Given the description of an element on the screen output the (x, y) to click on. 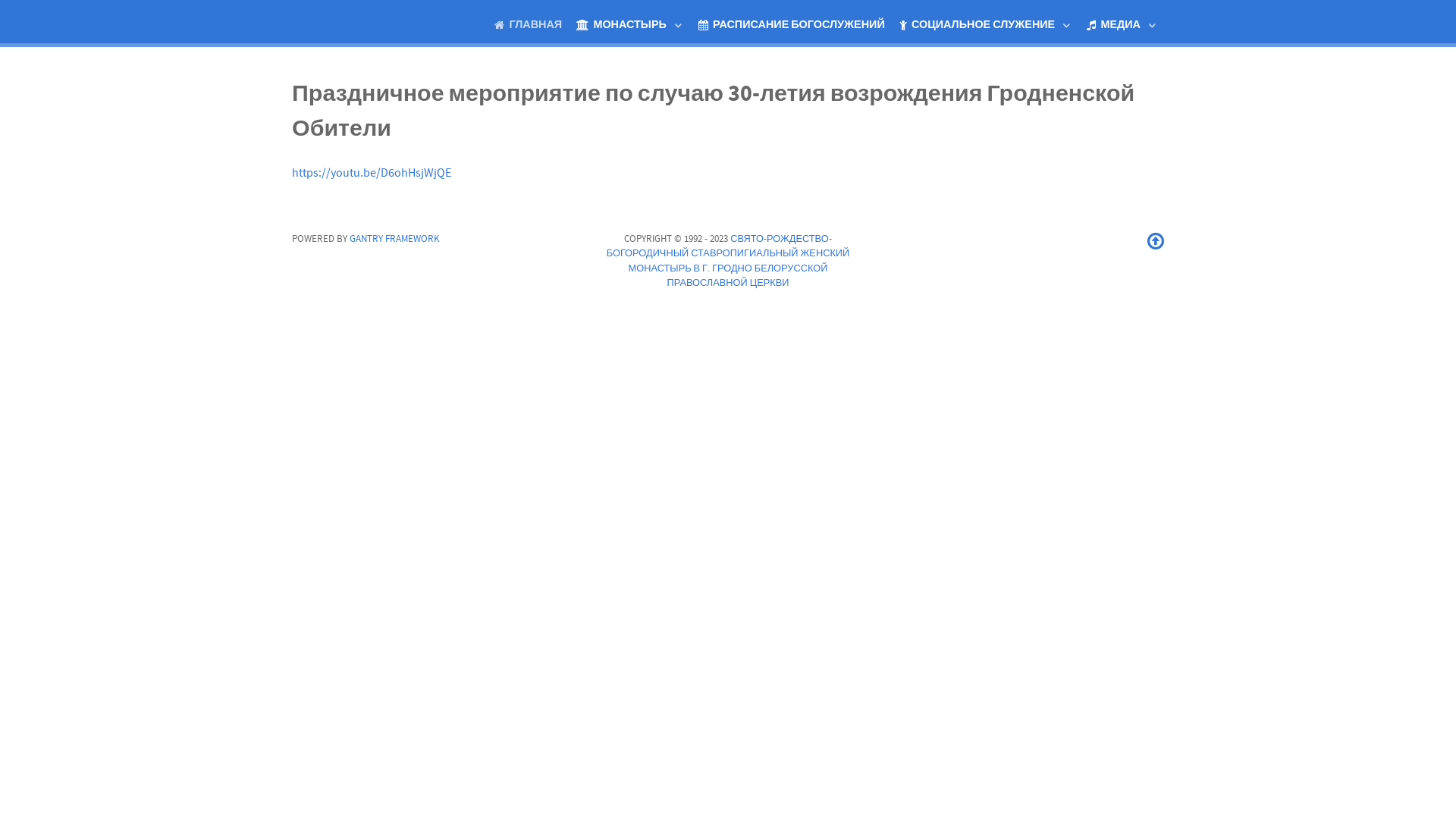
GANTRY FRAMEWORK Element type: text (394, 238)
https://youtu.be/D6ohHsjWjQE Element type: text (371, 172)
